Given the description of an element on the screen output the (x, y) to click on. 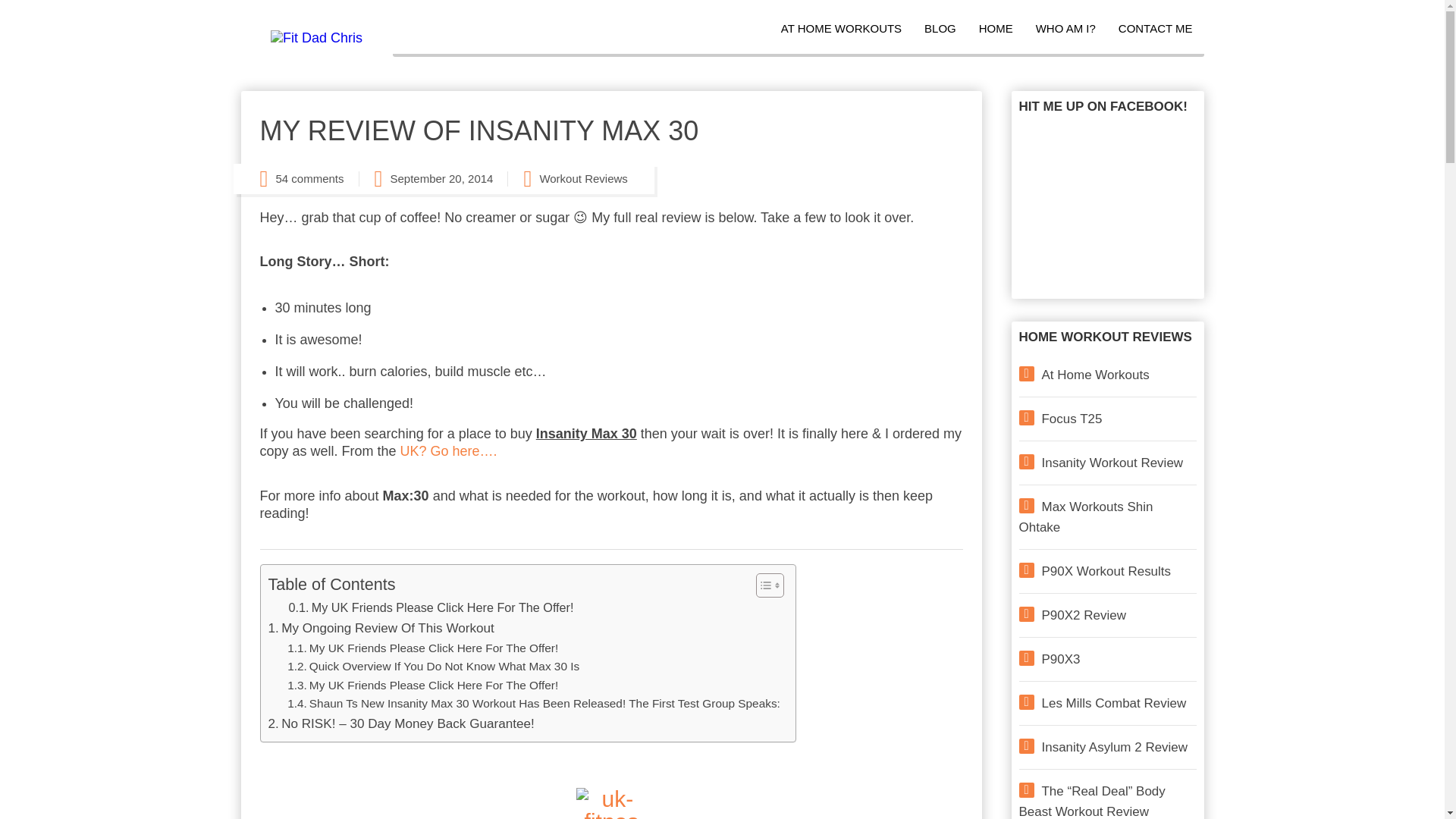
HOME (995, 28)
My UK Friends Please Click Here For The Offer! (421, 685)
My Ongoing Review Of This Workout (381, 628)
WHO AM I? (1065, 28)
My Ongoing Review Of This Workout (381, 628)
My UK Friends Please Click Here For The Offer! (610, 803)
My UK Friends Please Click Here For The Offer! (430, 608)
Workout Reviews (582, 178)
Quick Overview If You Do Not Know What Max 30 Is (432, 666)
